Given the description of an element on the screen output the (x, y) to click on. 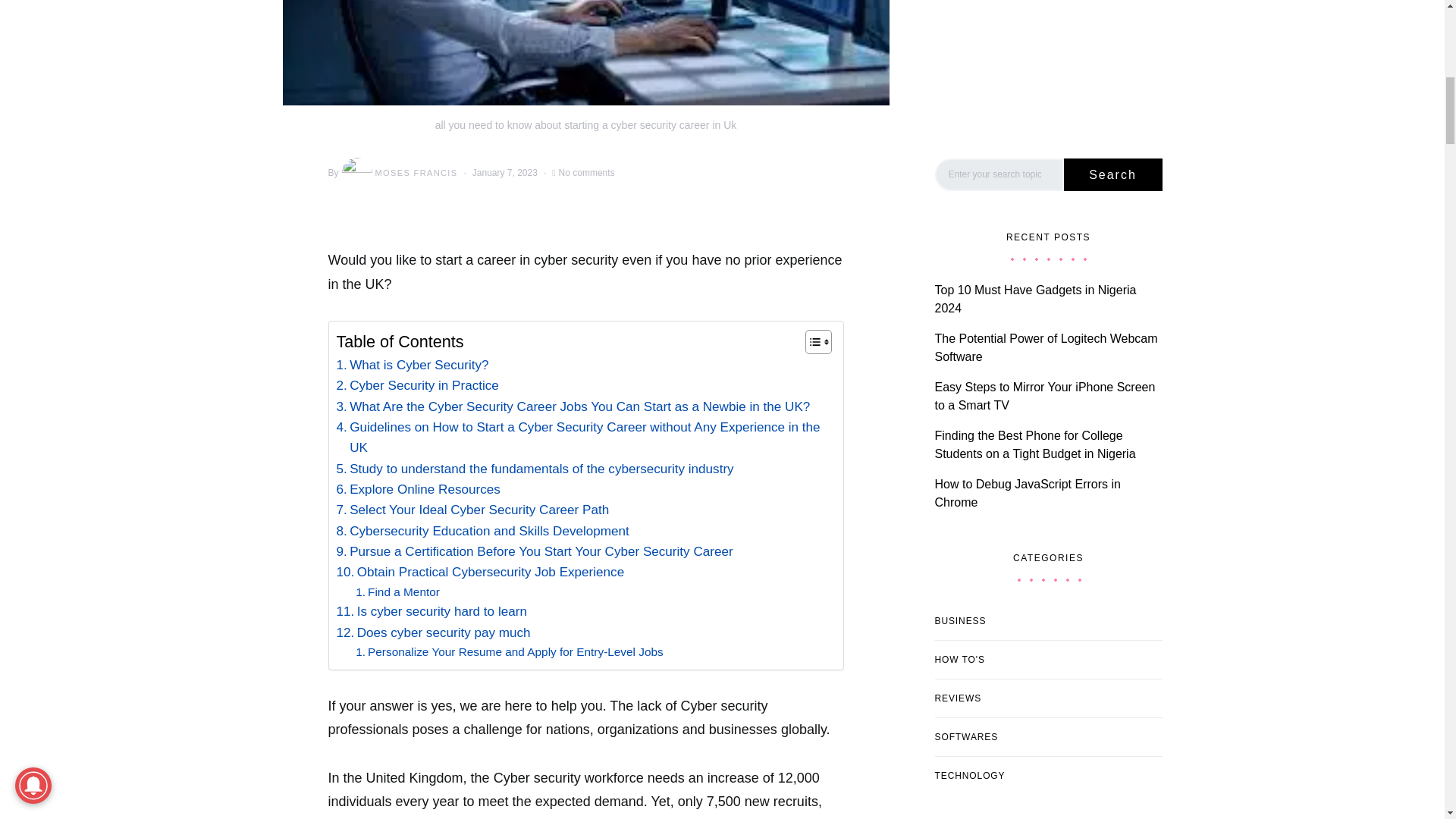
Find a Mentor (397, 592)
Does cyber security pay much (433, 632)
Cyber Security in Practice (417, 385)
View all posts by Moses Francis (398, 173)
MOSES FRANCIS (398, 173)
Obtain Practical Cybersecurity Job Experience (480, 571)
Personalize Your Resume and Apply for Entry-Level Jobs (509, 651)
What is Cyber Security? (412, 364)
Personalize Your Resume and Apply for Entry-Level Jobs (509, 651)
